Given the description of an element on the screen output the (x, y) to click on. 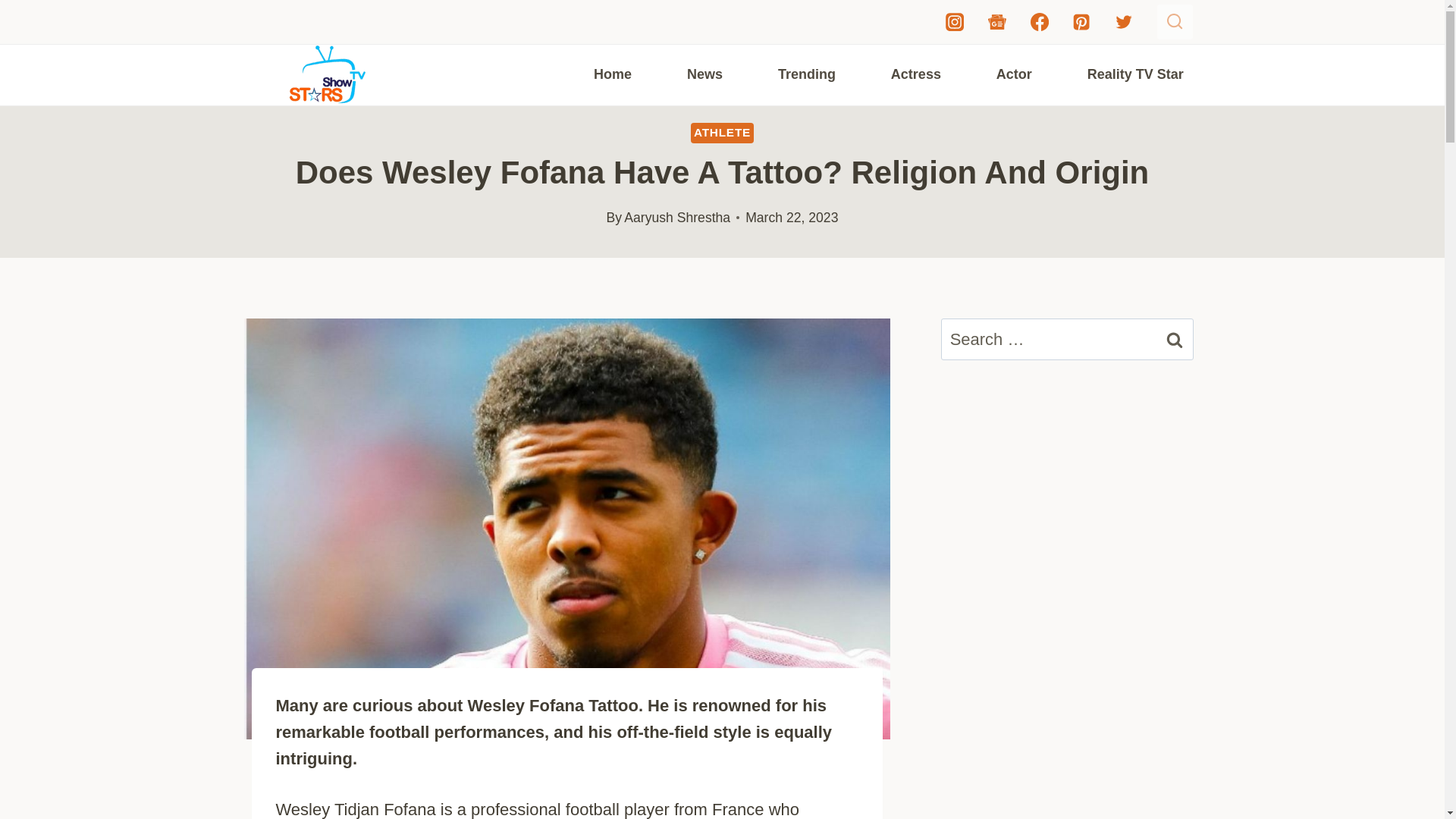
Reality TV Star (1134, 74)
Search (1174, 339)
Home (611, 74)
Search (1174, 339)
Trending (806, 74)
Search (1174, 339)
News (704, 74)
Actress (915, 74)
ATHLETE (722, 132)
Actor (1014, 74)
